Given the description of an element on the screen output the (x, y) to click on. 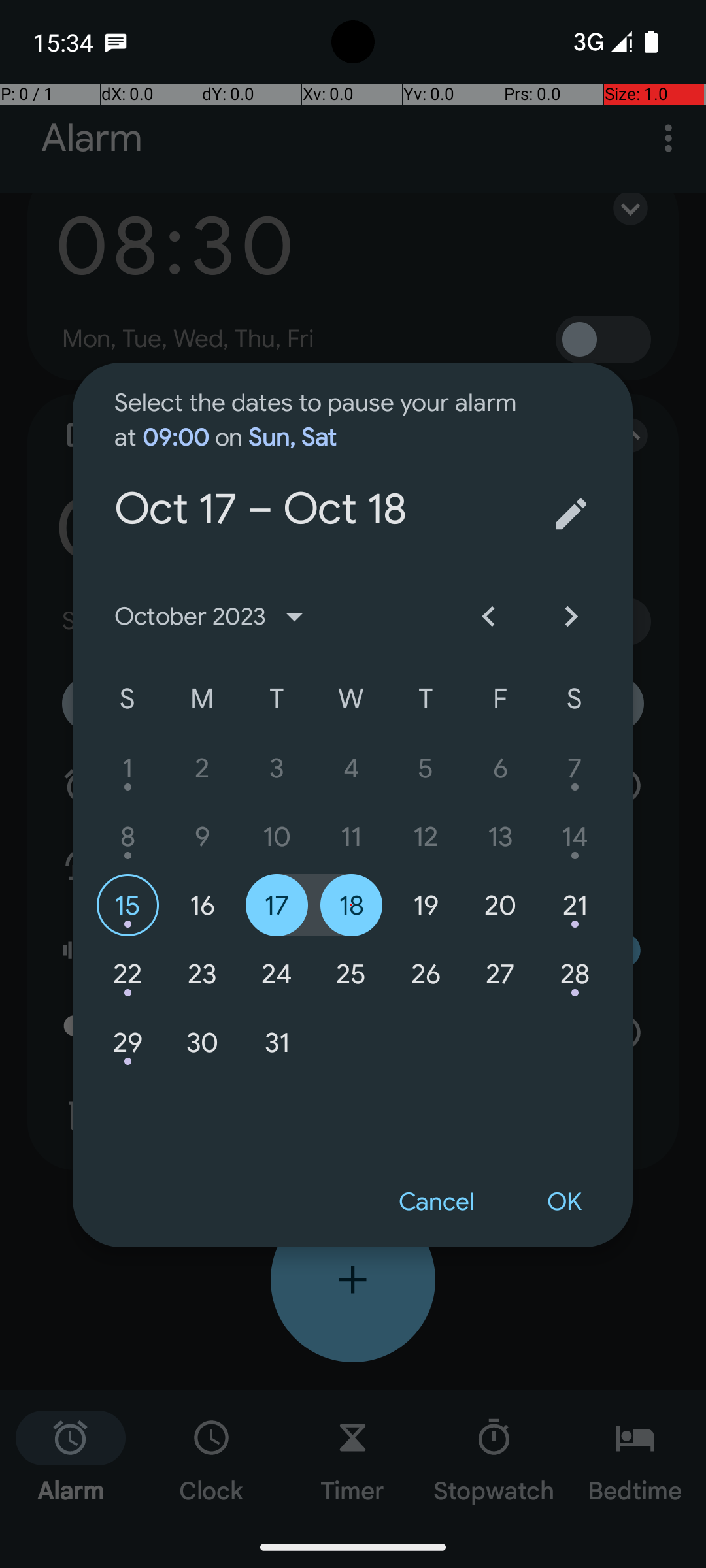
Switch to text input mode Element type: android.widget.ImageButton (570, 513)
October 2023 Element type: android.widget.Button (214, 616)
Change to previous month Element type: android.widget.Button (488, 616)
Change to next month Element type: android.widget.Button (570, 616)
Oct 17 – Oct 18 Element type: android.widget.TextView (321, 454)
Select the dates to pause your alarm at 09:00 on Sun, Sat Element type: android.widget.TextView (321, 407)
